Given the description of an element on the screen output the (x, y) to click on. 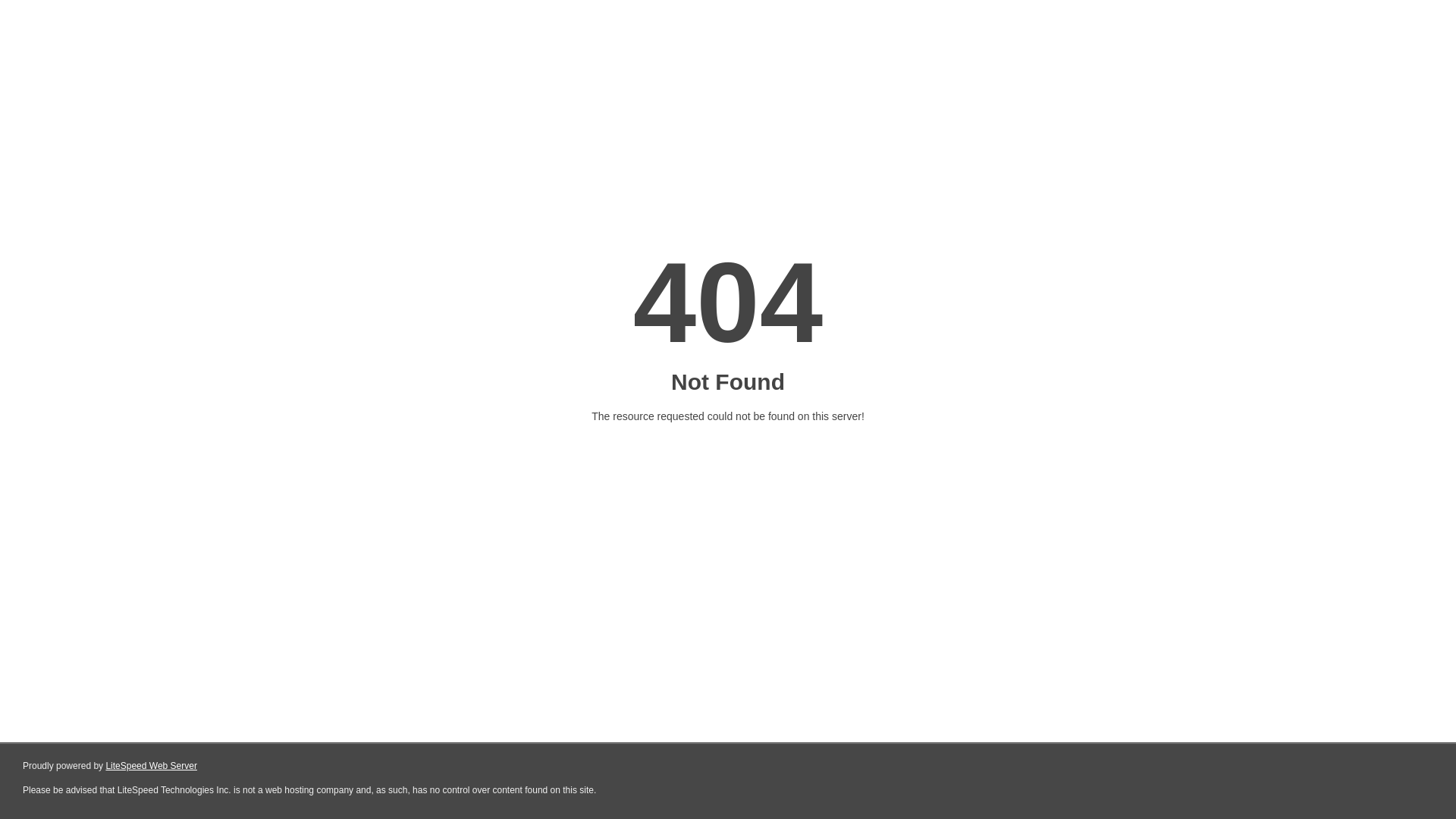
LiteSpeed Web Server Element type: text (151, 765)
